Given the description of an element on the screen output the (x, y) to click on. 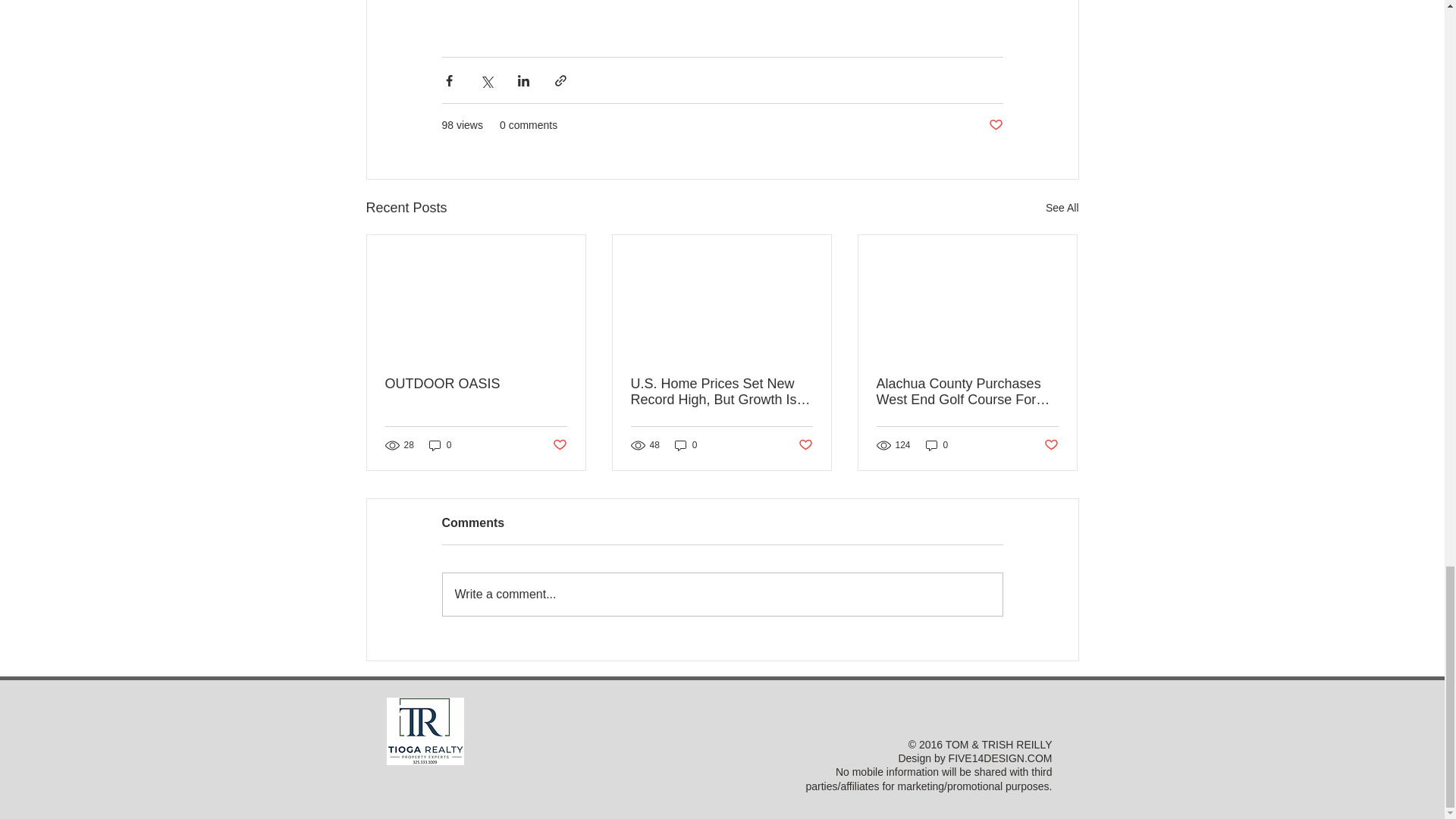
0 (440, 445)
See All (1061, 208)
Post not marked as liked (558, 444)
U.S. Home Prices Set New Record High, But Growth Is Slowing (721, 391)
Post not marked as liked (995, 125)
0 (685, 445)
Post not marked as liked (804, 444)
OUTDOOR OASIS (476, 383)
